Given the description of an element on the screen output the (x, y) to click on. 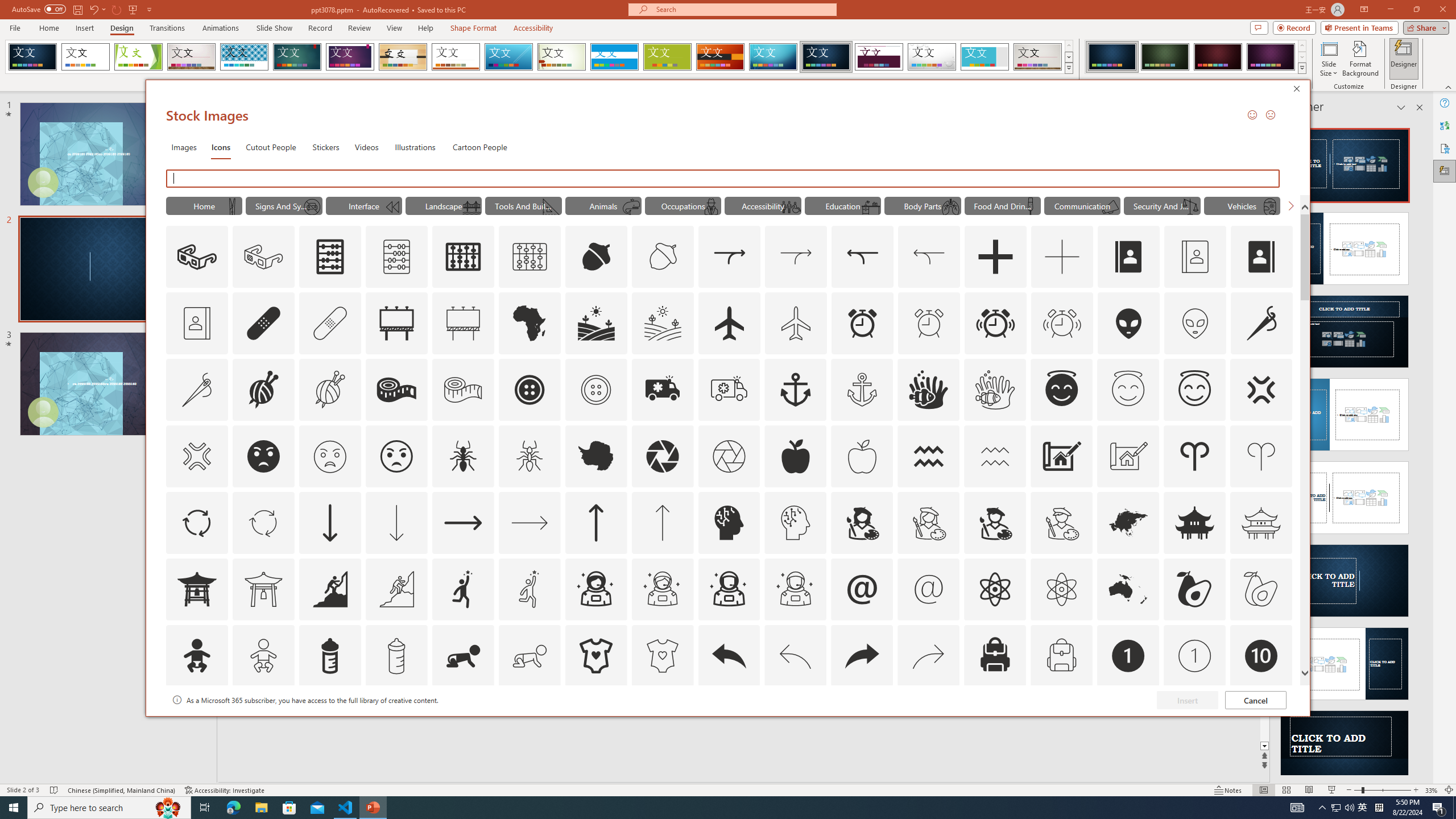
"Security And Justice" Icons. (1162, 205)
Basis (667, 56)
Send a Frown (1269, 114)
Microsoft Edge (233, 807)
AutomationID: Icons_Advertising_M (462, 323)
AutomationID: Icons_Badge7_M (995, 721)
Variants (1301, 67)
